Given the description of an element on the screen output the (x, y) to click on. 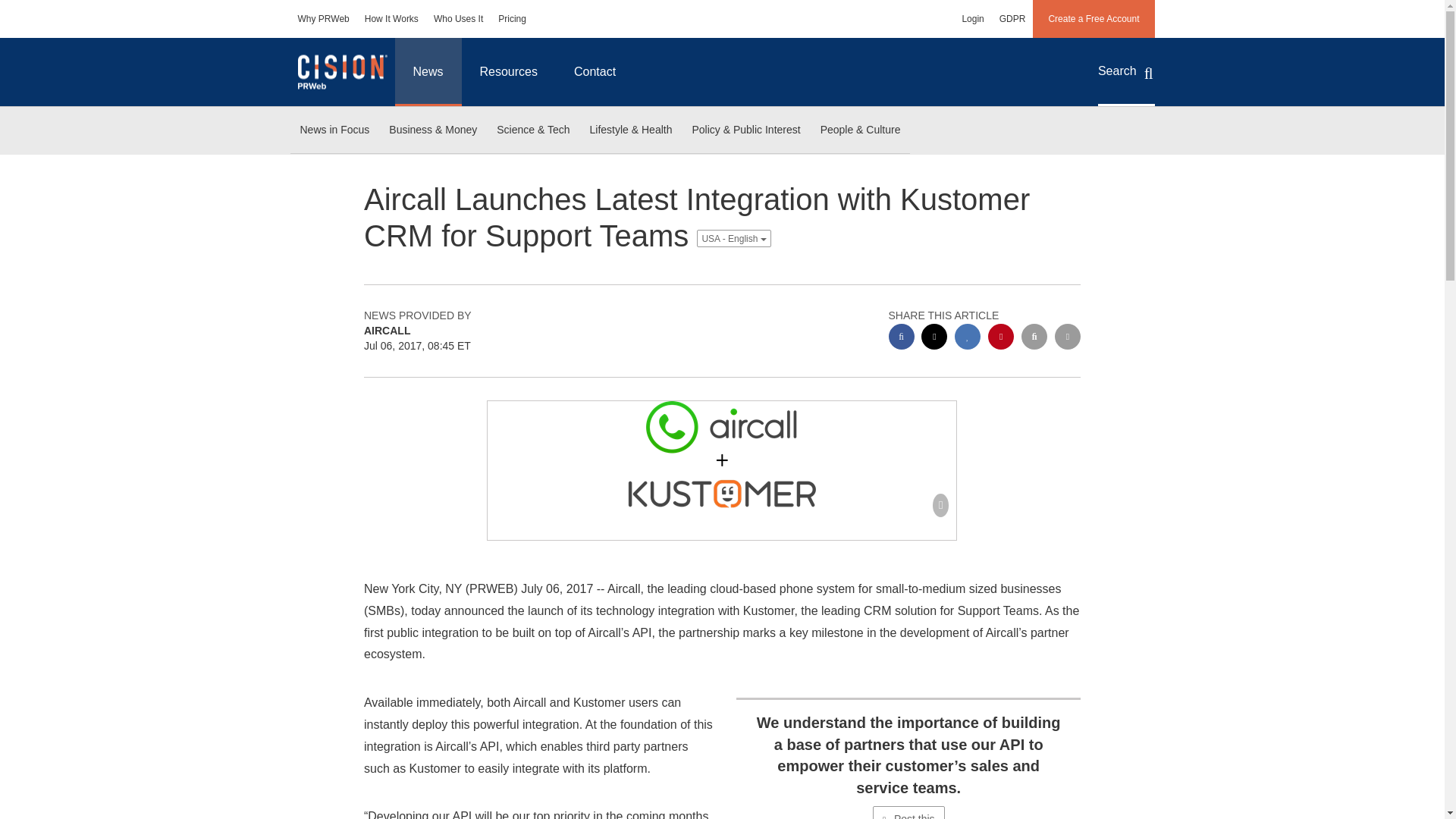
News in Focus (333, 130)
